Given the description of an element on the screen output the (x, y) to click on. 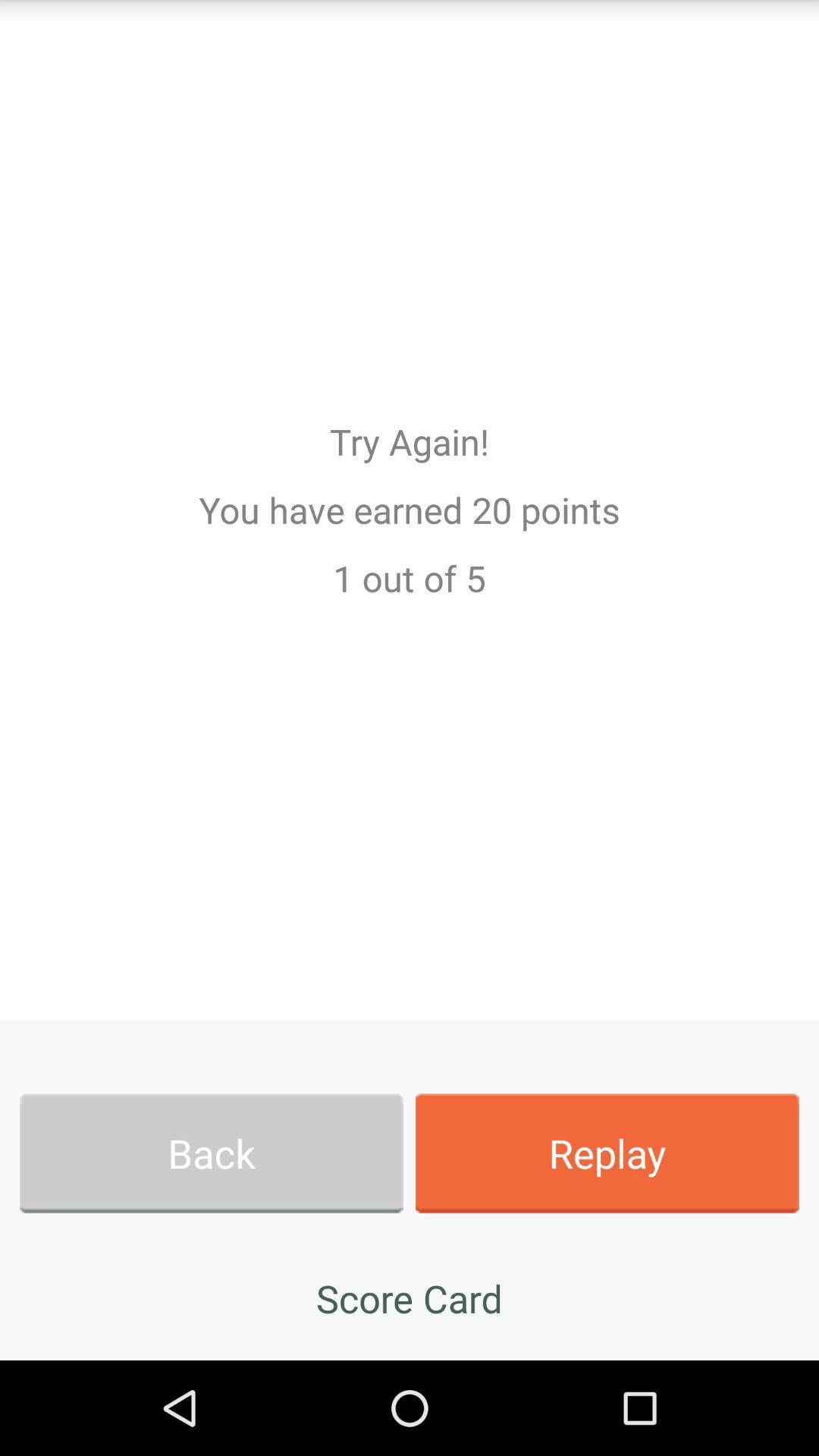
turn on score card app (409, 1298)
